Given the description of an element on the screen output the (x, y) to click on. 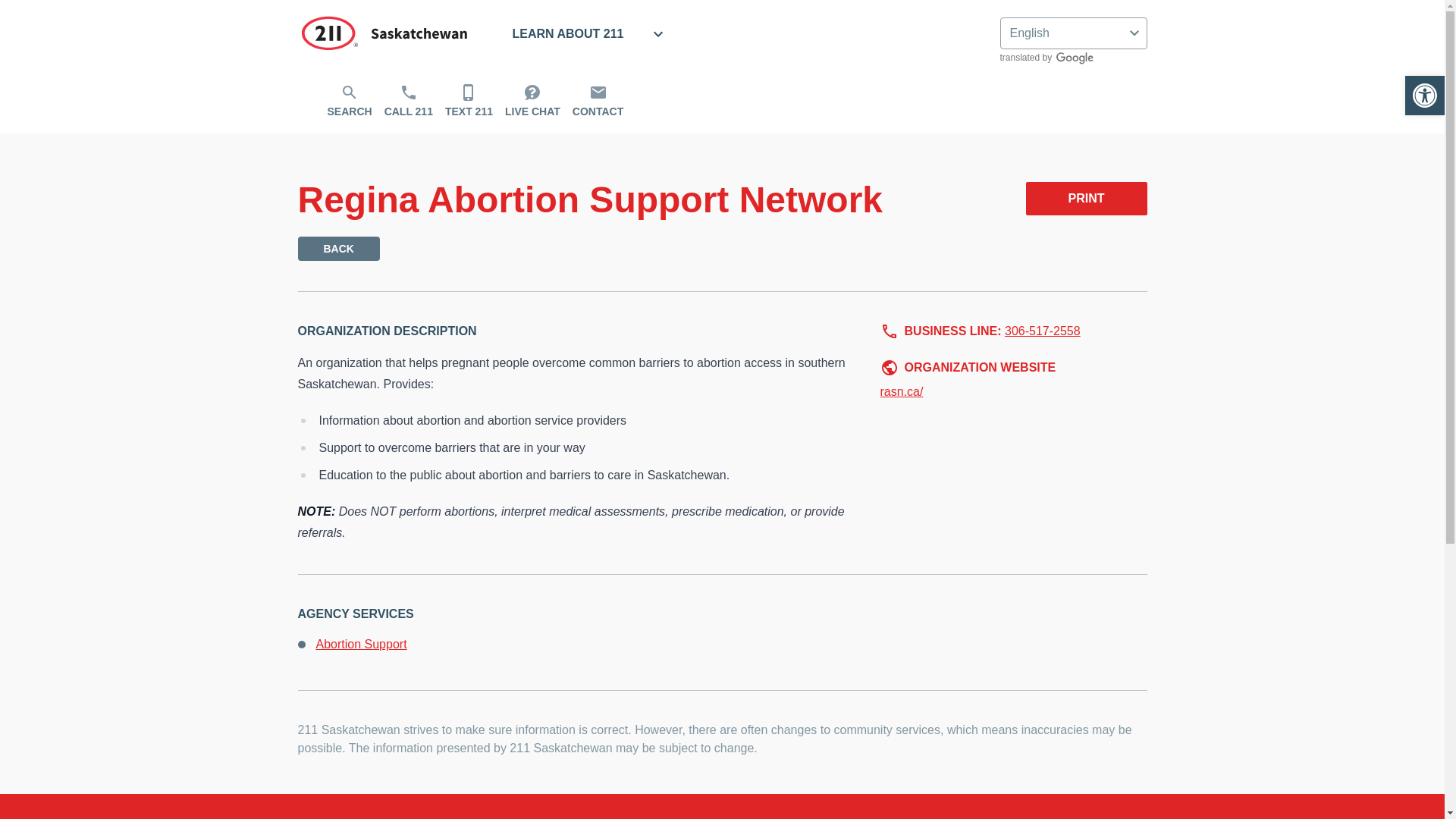
BACK (337, 248)
Abortion Support (360, 644)
306-517-2558 (1042, 330)
PRINT (1086, 198)
